Given the description of an element on the screen output the (x, y) to click on. 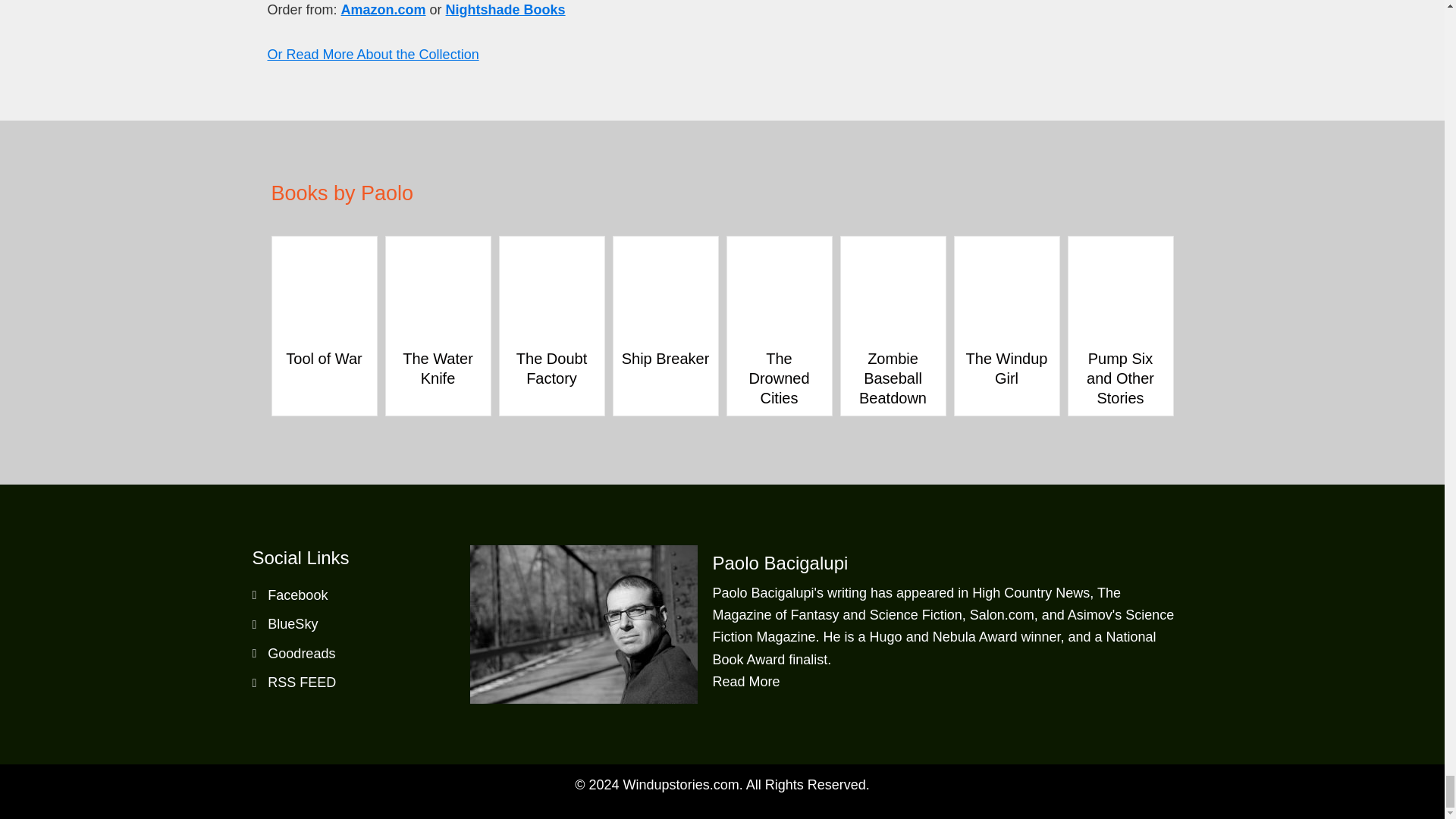
The Water Knife (437, 246)
Tool of War (322, 246)
Or Read More About the Collection (372, 54)
The Doubt Factory (551, 368)
Nightshade Books (505, 9)
The Drowned Cities (778, 246)
Amazon.com (383, 9)
Ship Breaker (664, 246)
Zombie Baseball Beatdown (892, 246)
Ship Breaker (665, 358)
